Given the description of an element on the screen output the (x, y) to click on. 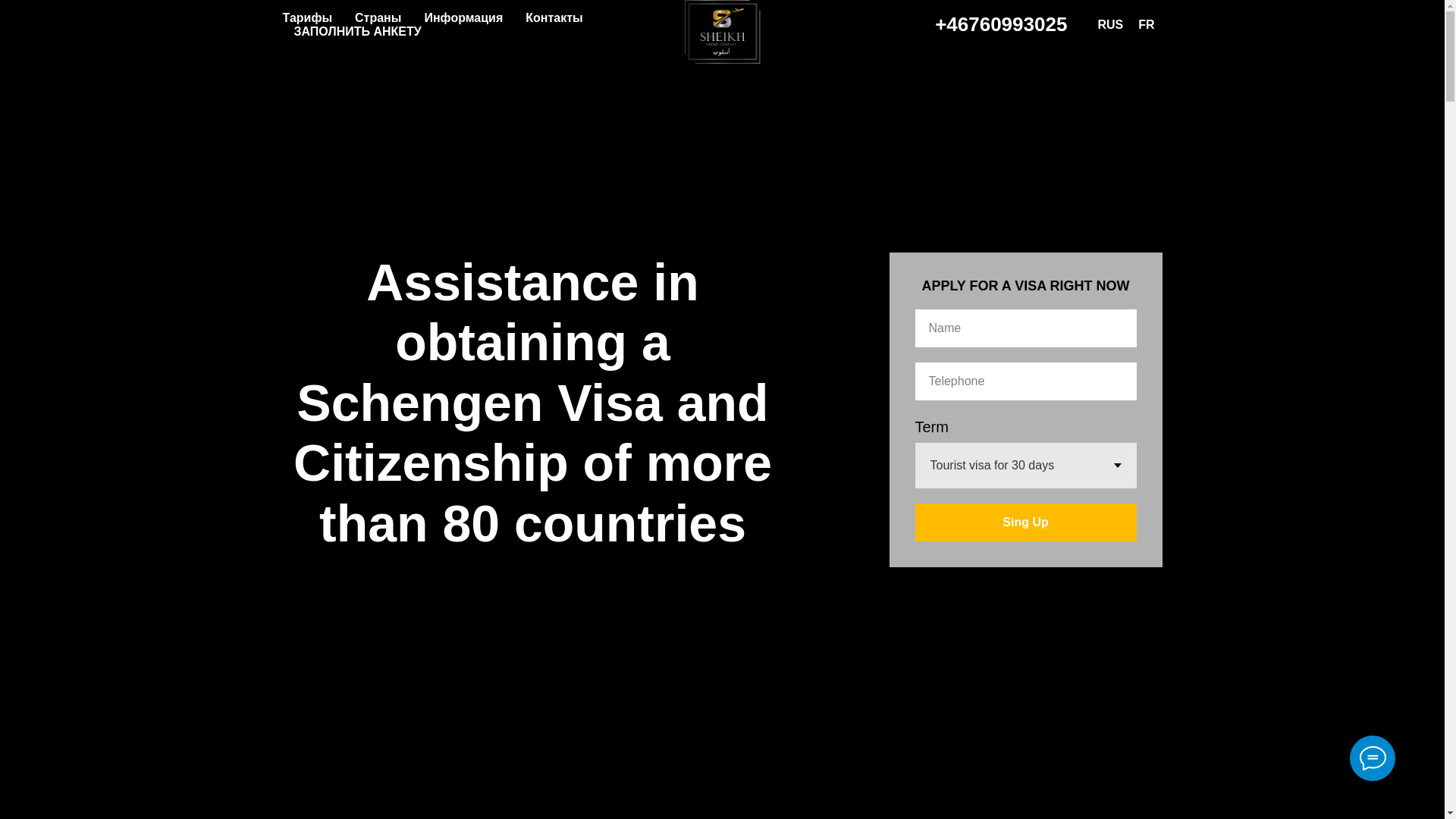
RUS (1109, 24)
FR (1146, 24)
Sing Up (1024, 522)
